Given the description of an element on the screen output the (x, y) to click on. 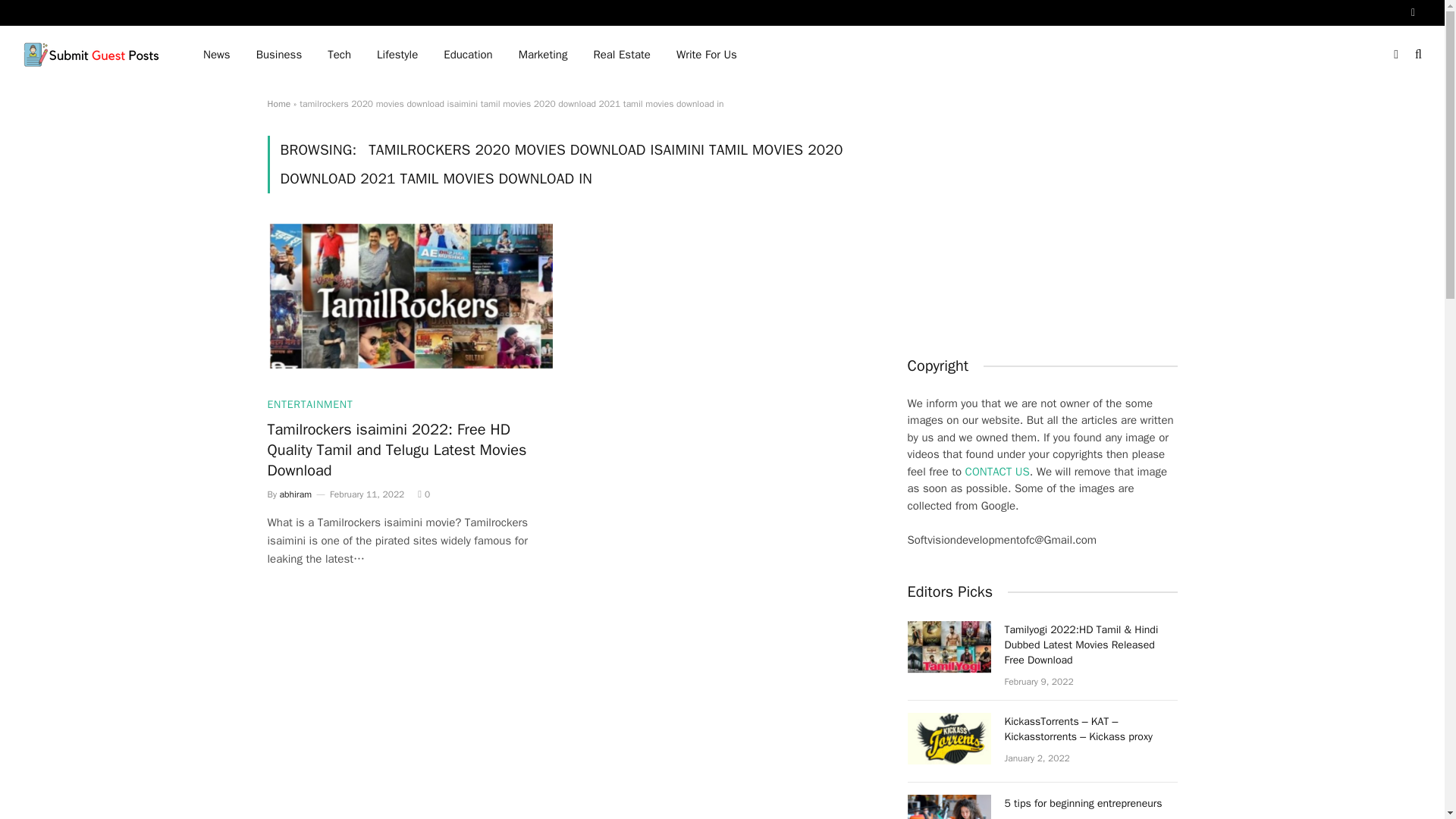
Education (467, 54)
Home (277, 103)
Marketing (542, 54)
Posts by abhiram (295, 494)
Write For Us (706, 54)
0 (423, 494)
Business (279, 54)
News (216, 54)
Switch to Dark Design - easier on eyes. (1396, 54)
Lifestyle (397, 54)
CONTACT US (997, 471)
Submit Guest Posts (93, 53)
Real Estate (620, 54)
